Given the description of an element on the screen output the (x, y) to click on. 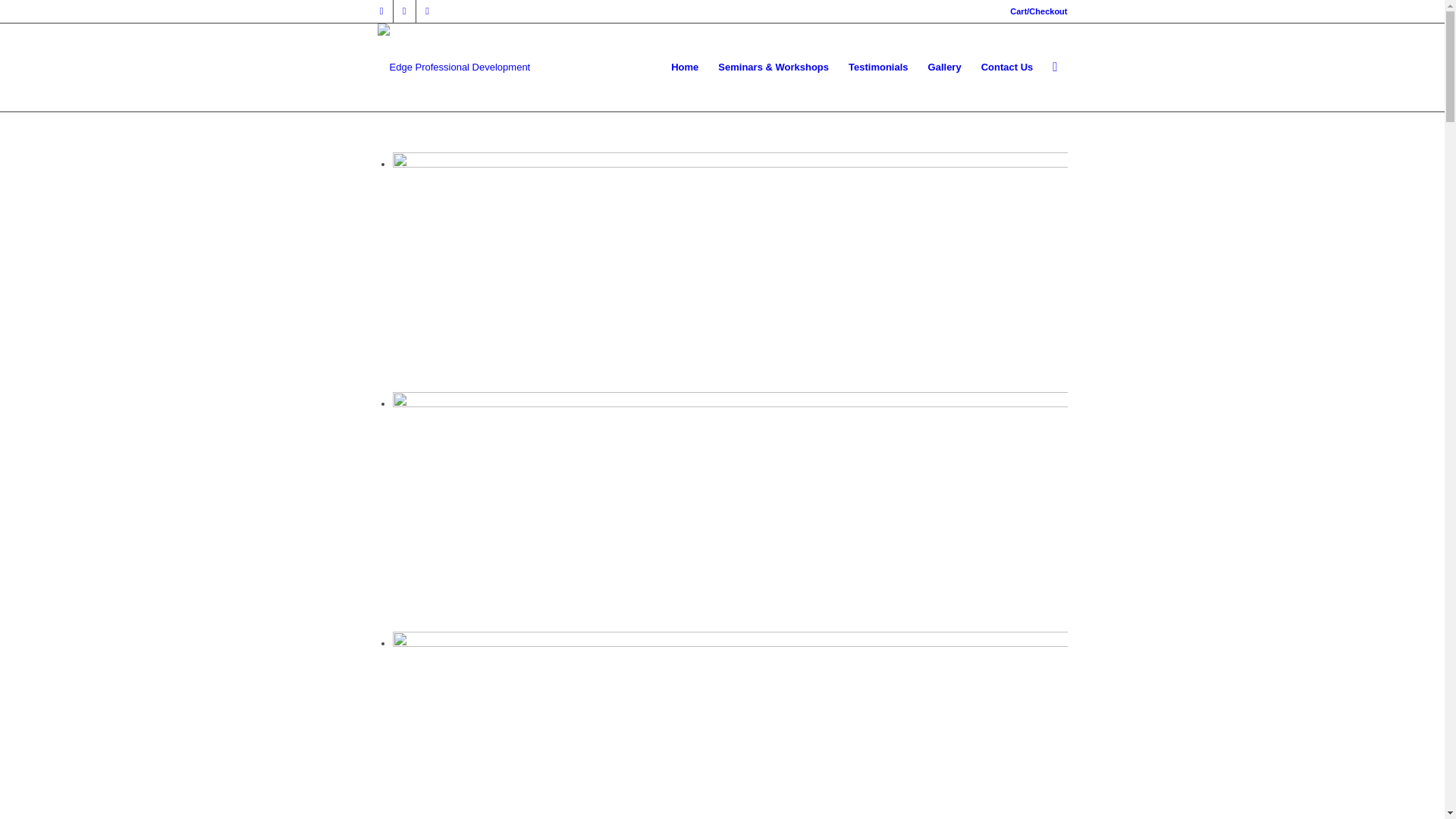
Edge031 - Version 2 Element type: hover (729, 509)
Contact Us Element type: text (1007, 67)
Testimonials Element type: text (878, 67)
Home Element type: text (684, 67)
Edge007a Element type: hover (729, 269)
Facebook Element type: hover (381, 11)
Mail Element type: hover (426, 11)
Edge-Shadow-Logo Element type: hover (453, 48)
Cart/Checkout Element type: text (1038, 11)
Seminars & Workshops Element type: text (773, 67)
Gallery Element type: text (944, 67)
Twitter Element type: hover (403, 11)
